Given the description of an element on the screen output the (x, y) to click on. 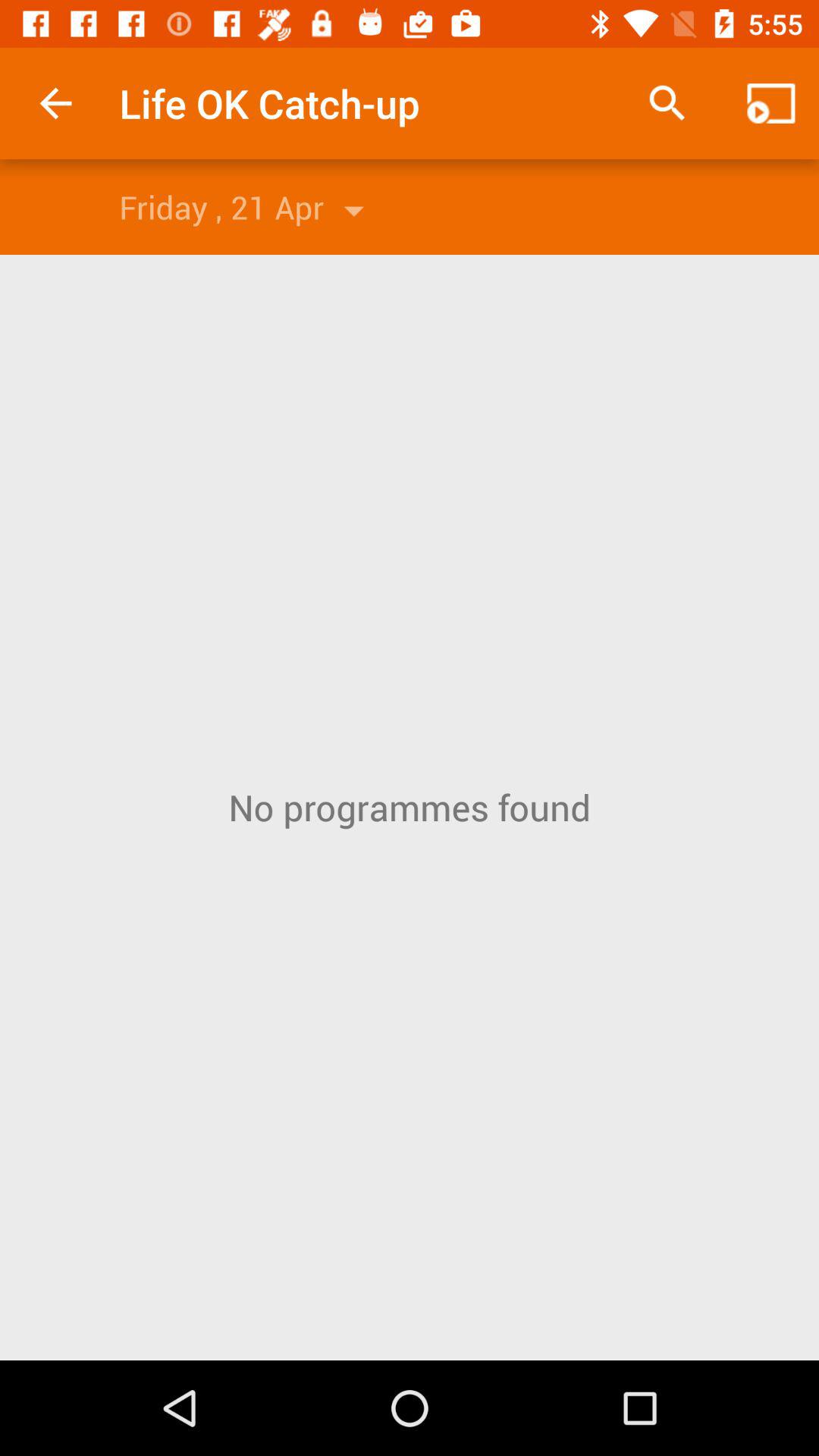
turn off app next to life ok catch app (55, 103)
